Given the description of an element on the screen output the (x, y) to click on. 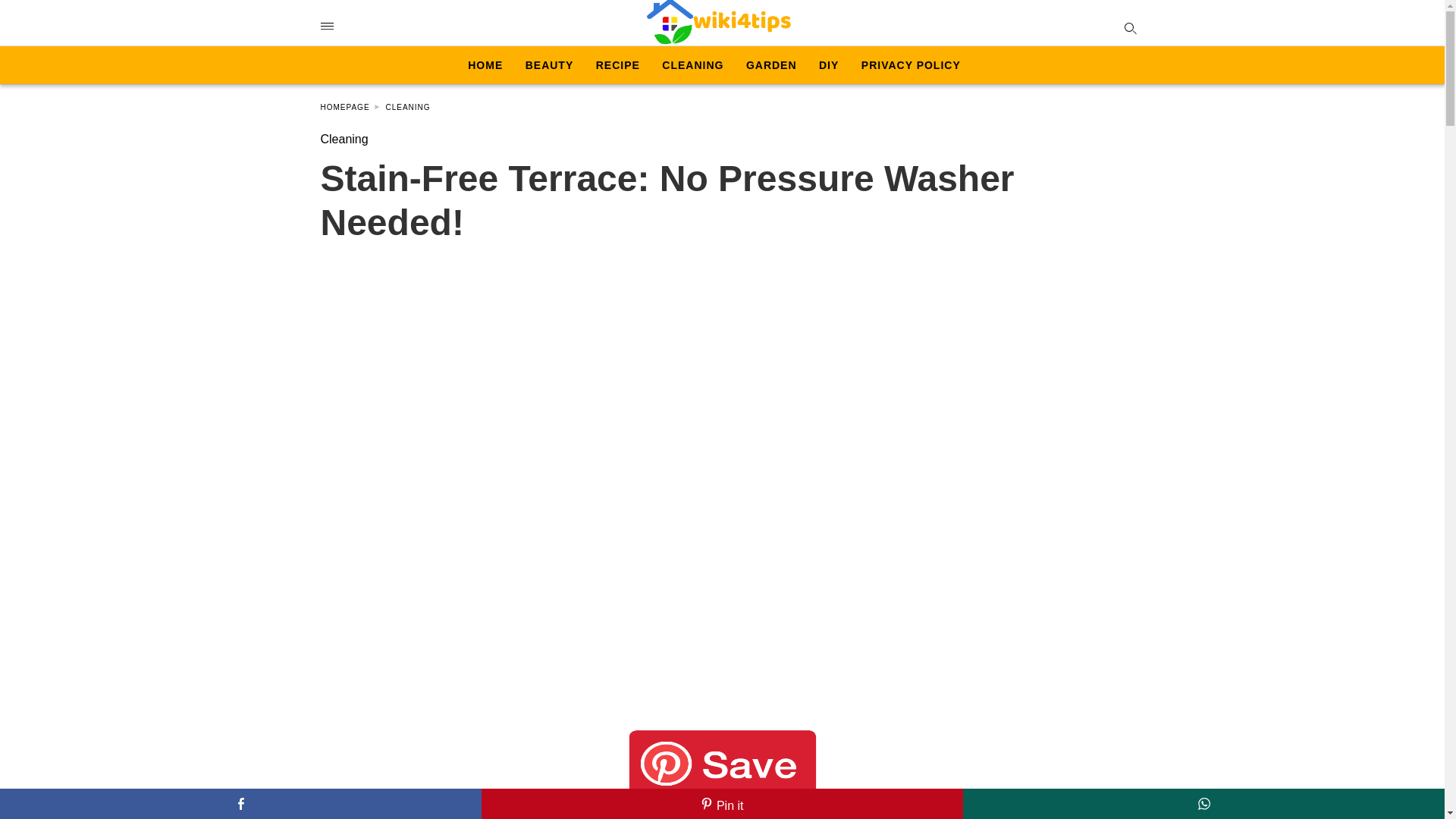
facebook share (240, 803)
HOME (484, 65)
Homepage (350, 107)
Wiki for Tips (718, 23)
CLEANING (692, 65)
BEAUTY (549, 65)
PRIVACY POLICY (910, 65)
RECIPE (617, 65)
Pinterest (721, 803)
DIY (828, 65)
GARDEN (770, 65)
search (1126, 25)
HOMEPAGE (350, 107)
